Given the description of an element on the screen output the (x, y) to click on. 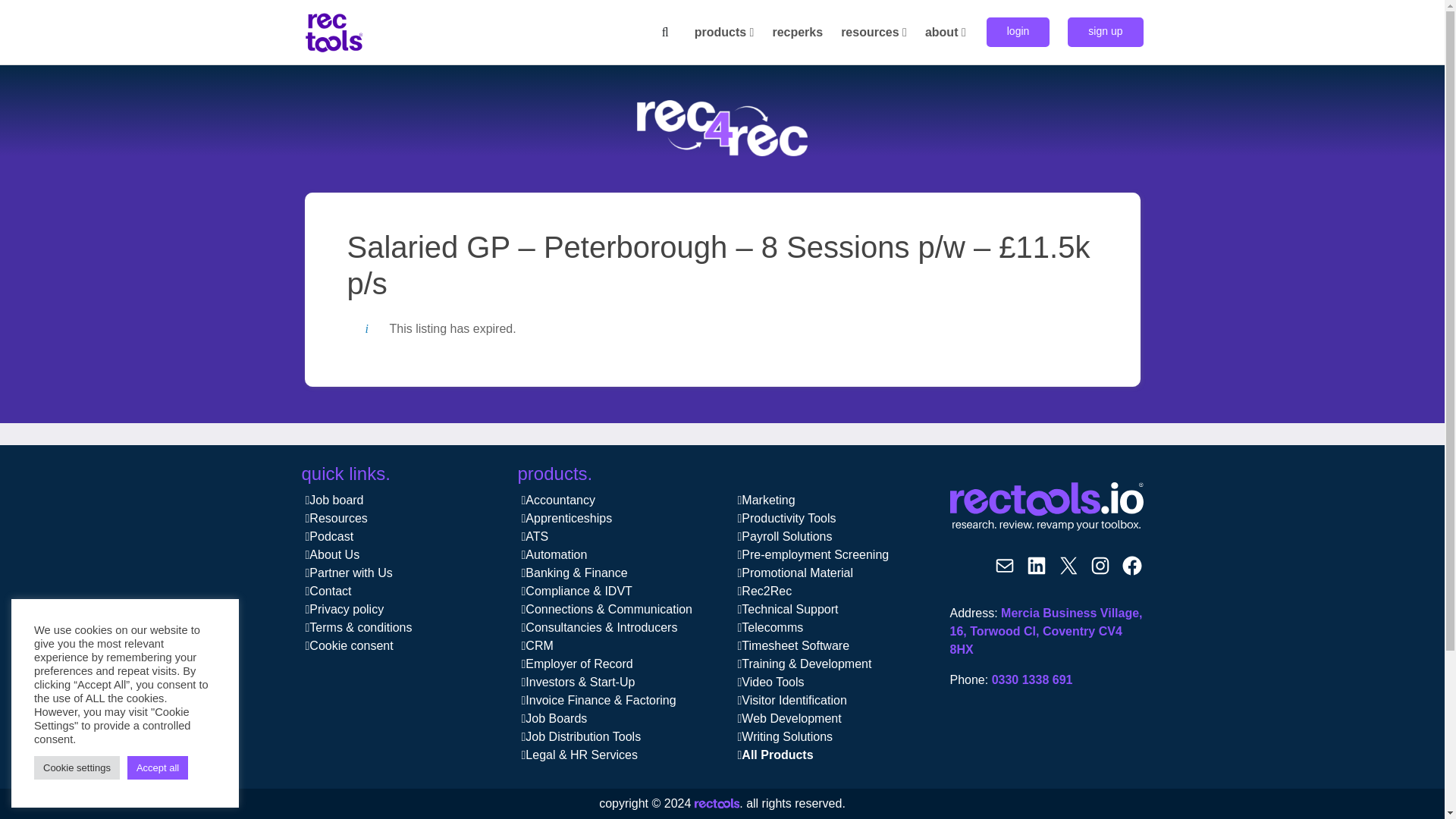
Products (725, 31)
Rectools.io (1045, 506)
Home (333, 31)
recperks (797, 31)
login (1018, 31)
sign up (1104, 31)
resources (873, 31)
products (725, 31)
rectools.io (716, 804)
